Given the description of an element on the screen output the (x, y) to click on. 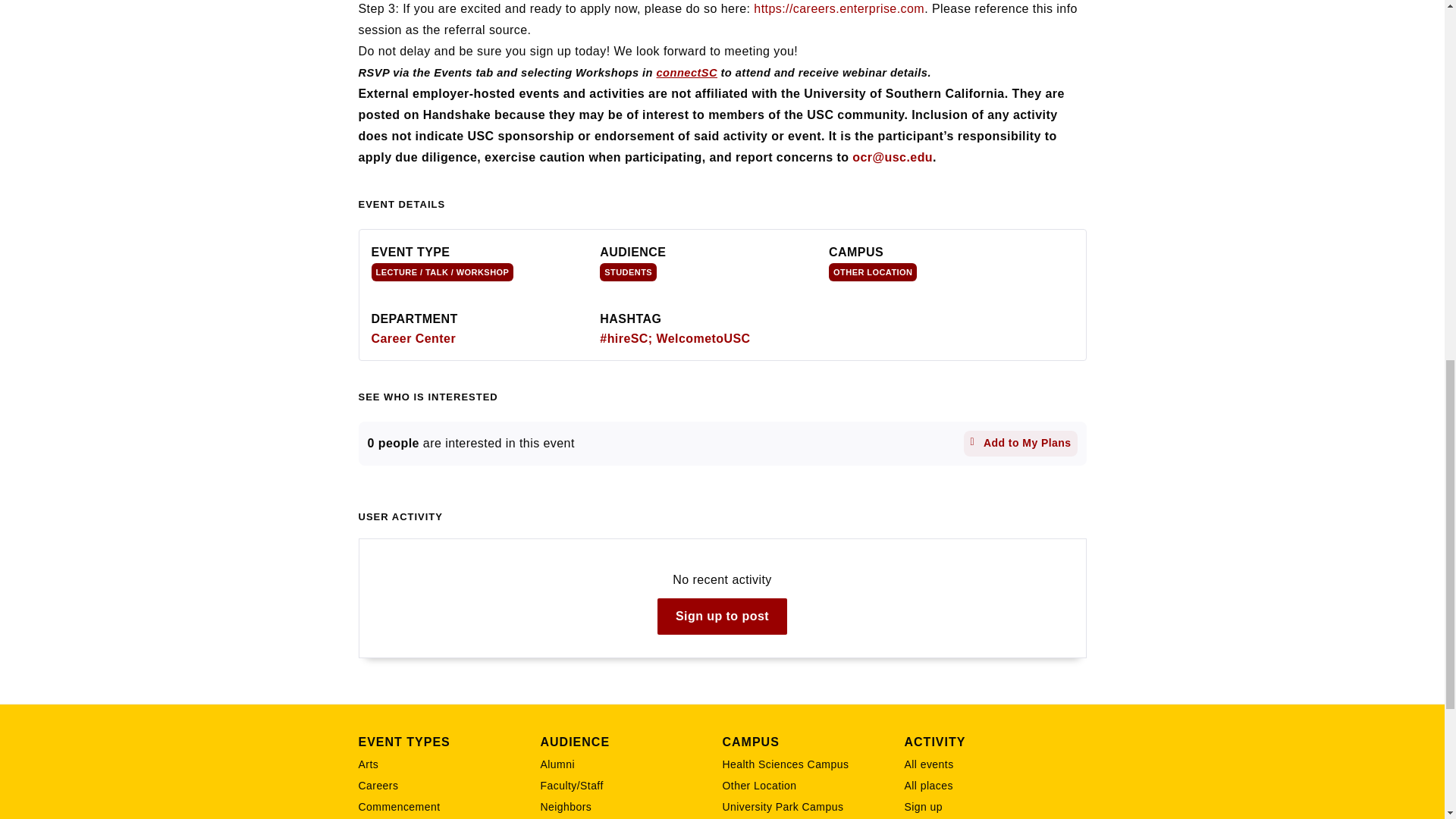
Add to My Plans (1020, 443)
OTHER LOCATION (872, 271)
Sign up to post (722, 616)
Arts (449, 764)
Career Center (414, 338)
connectSC (686, 72)
STUDENTS (627, 271)
